Given the description of an element on the screen output the (x, y) to click on. 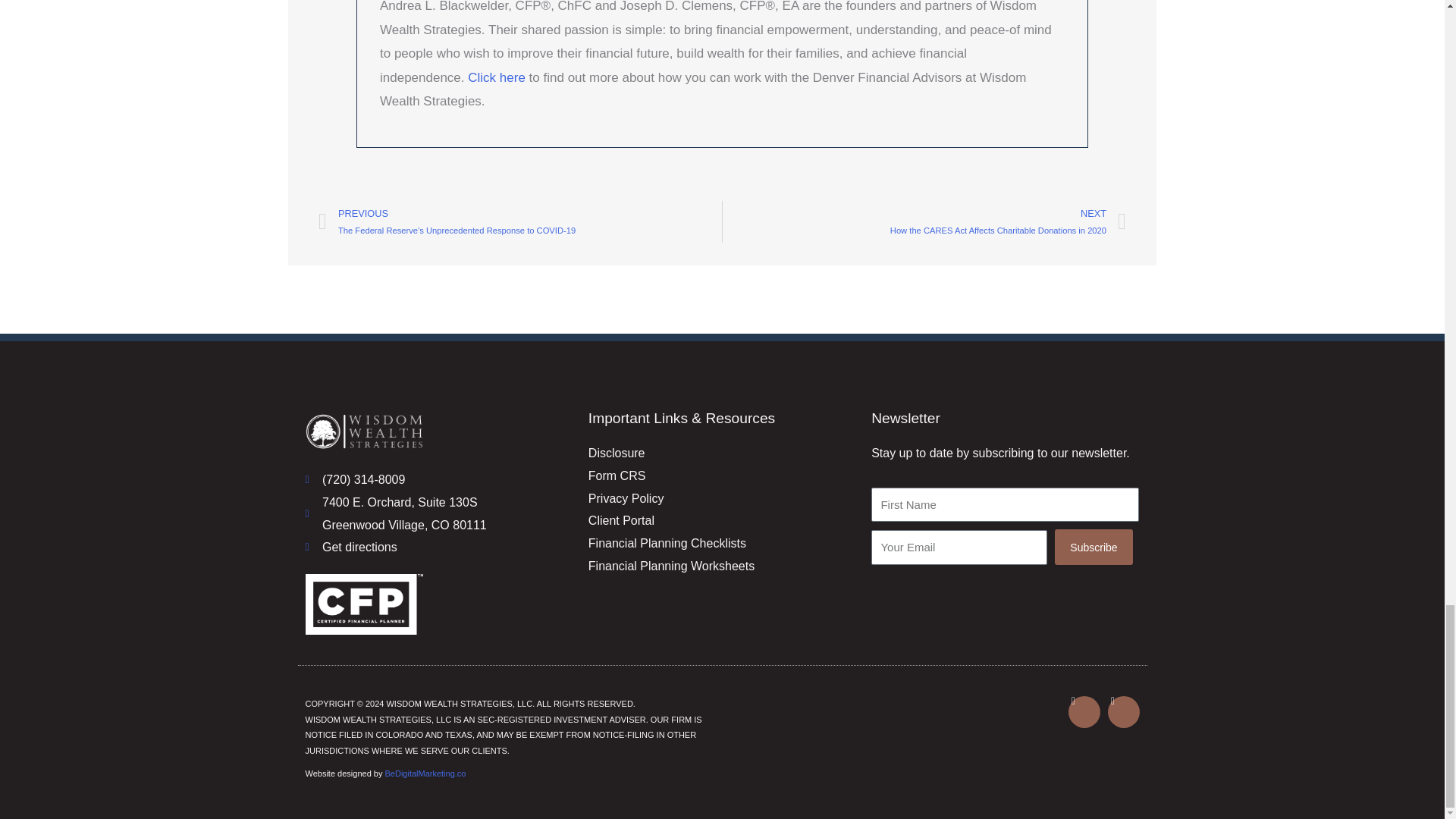
Click here (496, 77)
